Given the description of an element on the screen output the (x, y) to click on. 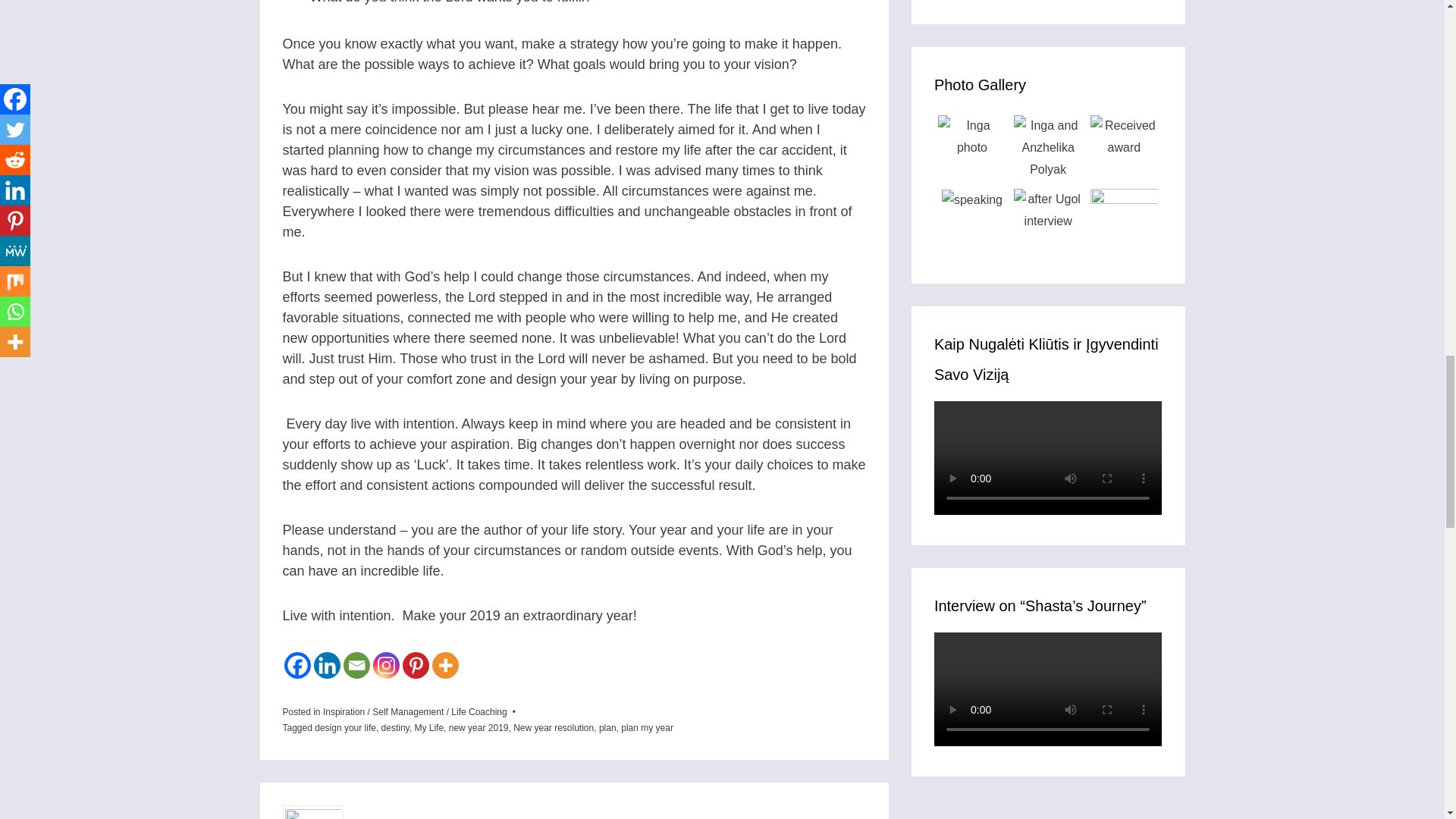
Instagram (385, 664)
Pinterest (414, 664)
Email (355, 664)
Linkedin (327, 664)
Facebook (296, 664)
More (445, 664)
